Given the description of an element on the screen output the (x, y) to click on. 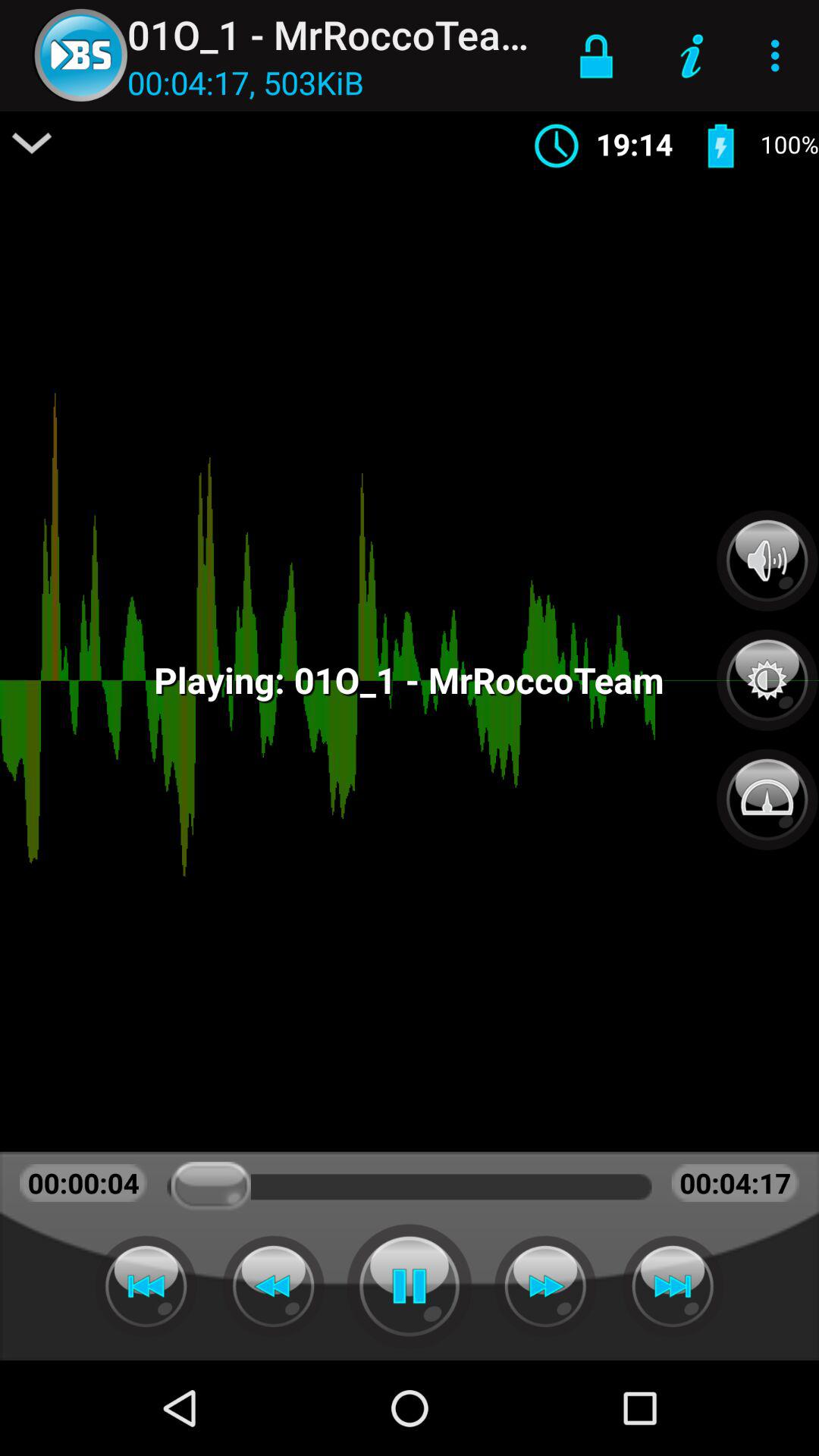
go forward in song (545, 1286)
